Given the description of an element on the screen output the (x, y) to click on. 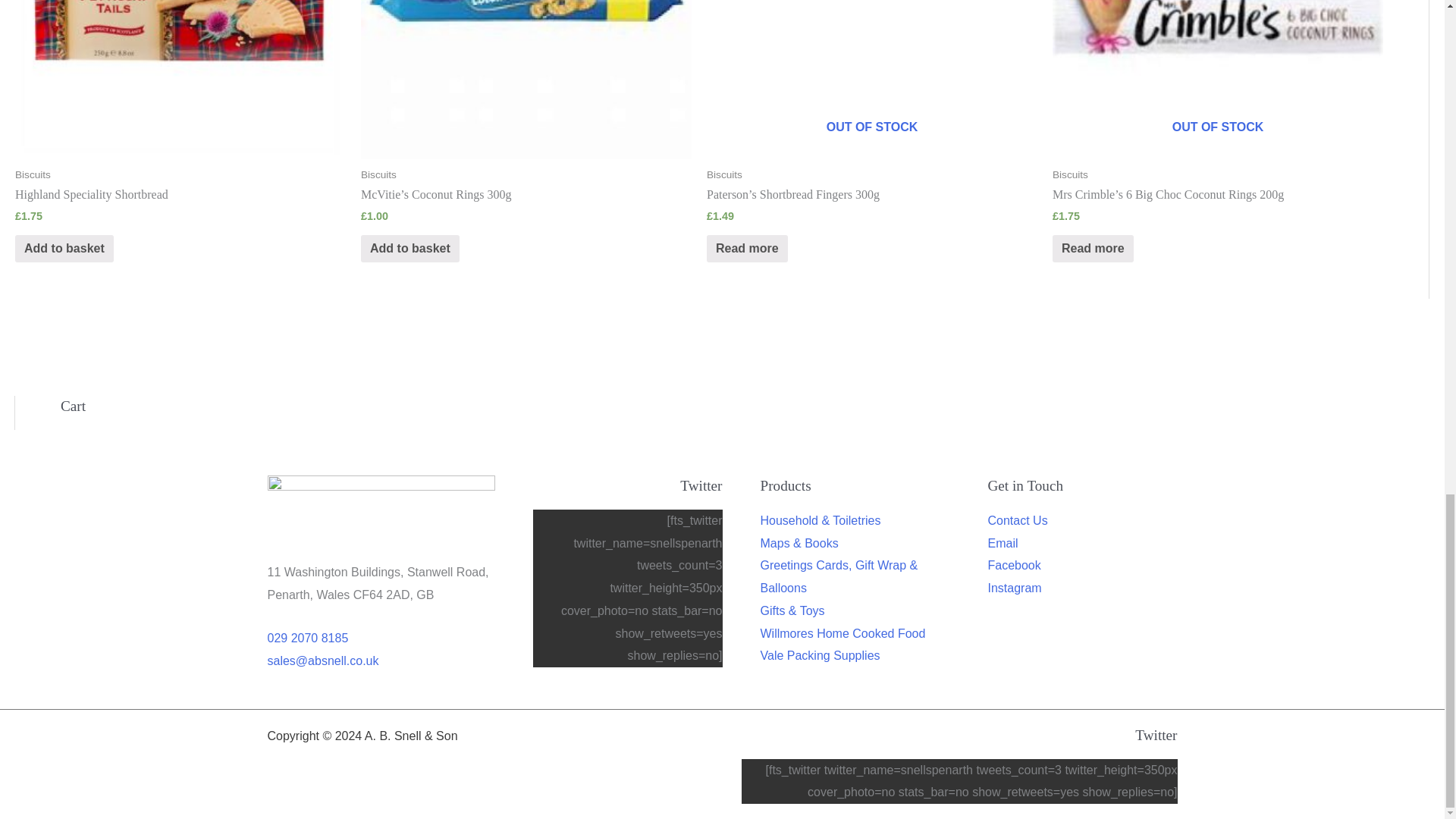
Highland Speciality Shortbread (180, 195)
OUT OF STOCK (871, 79)
Add to basket (63, 248)
Add to basket (410, 248)
